Given the description of an element on the screen output the (x, y) to click on. 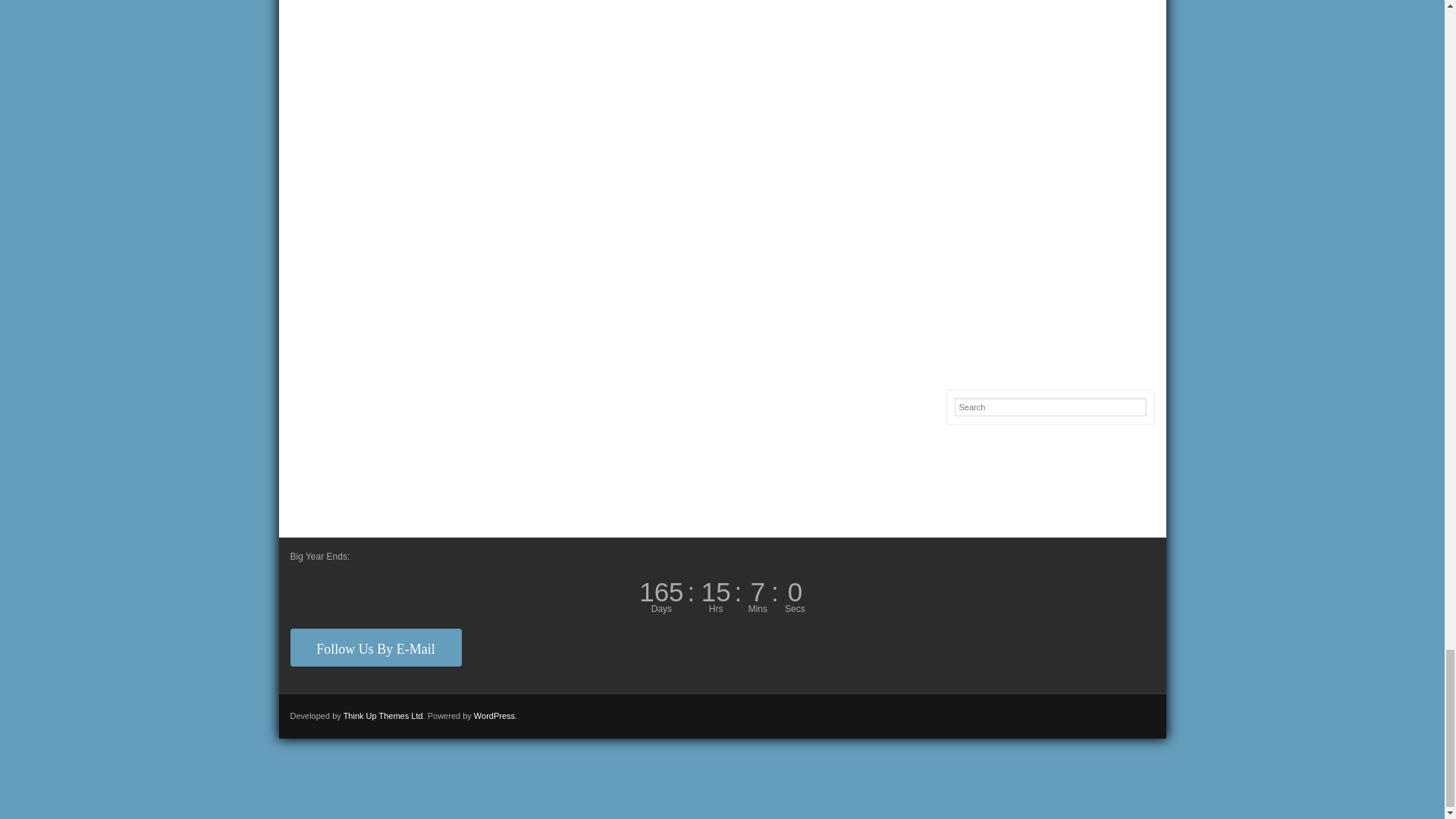
Never Miss a New Blog Post (375, 647)
